Given the description of an element on the screen output the (x, y) to click on. 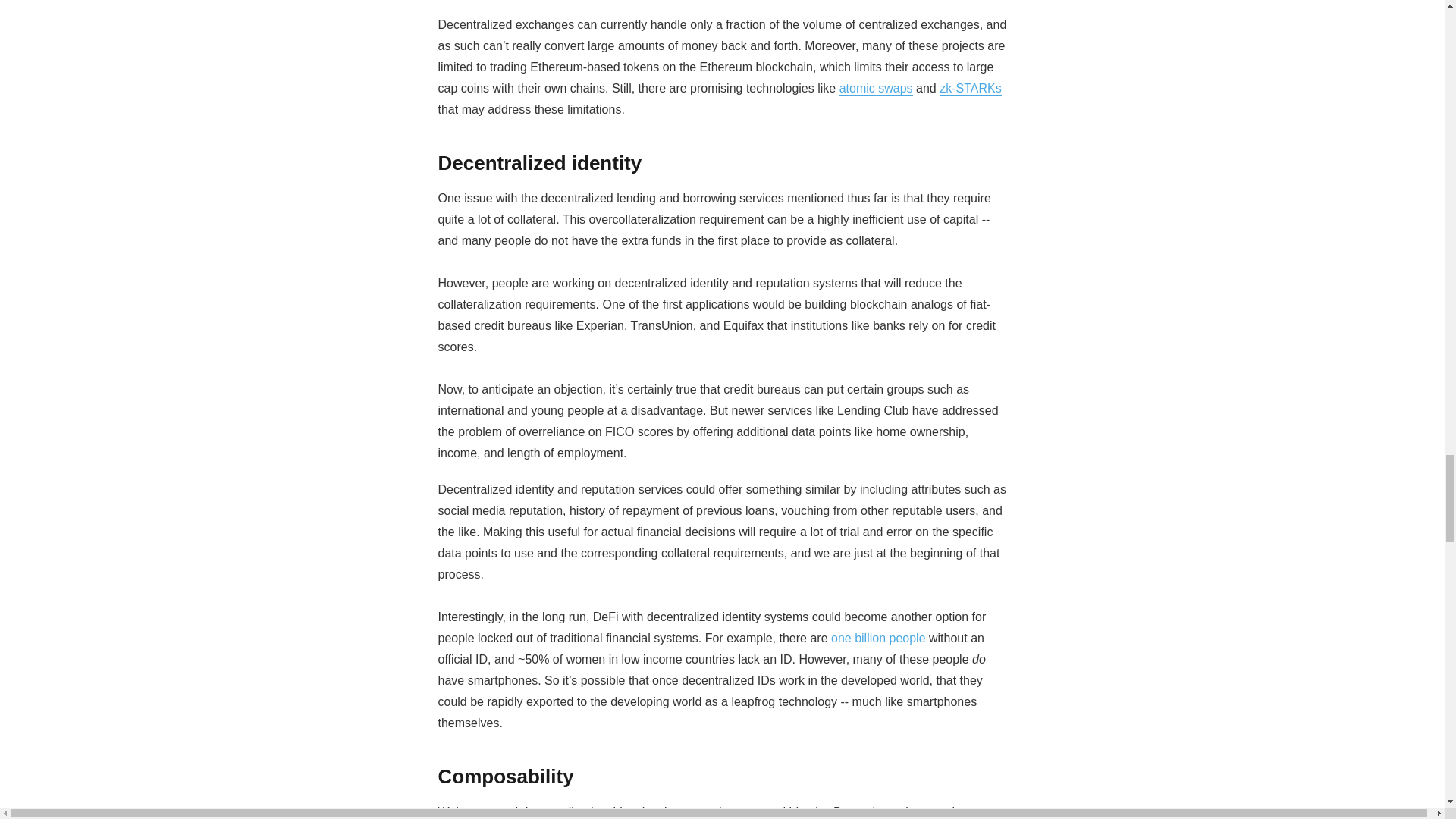
zk-STARKs (970, 88)
atomic swaps (876, 88)
one billion people (878, 637)
